Given the description of an element on the screen output the (x, y) to click on. 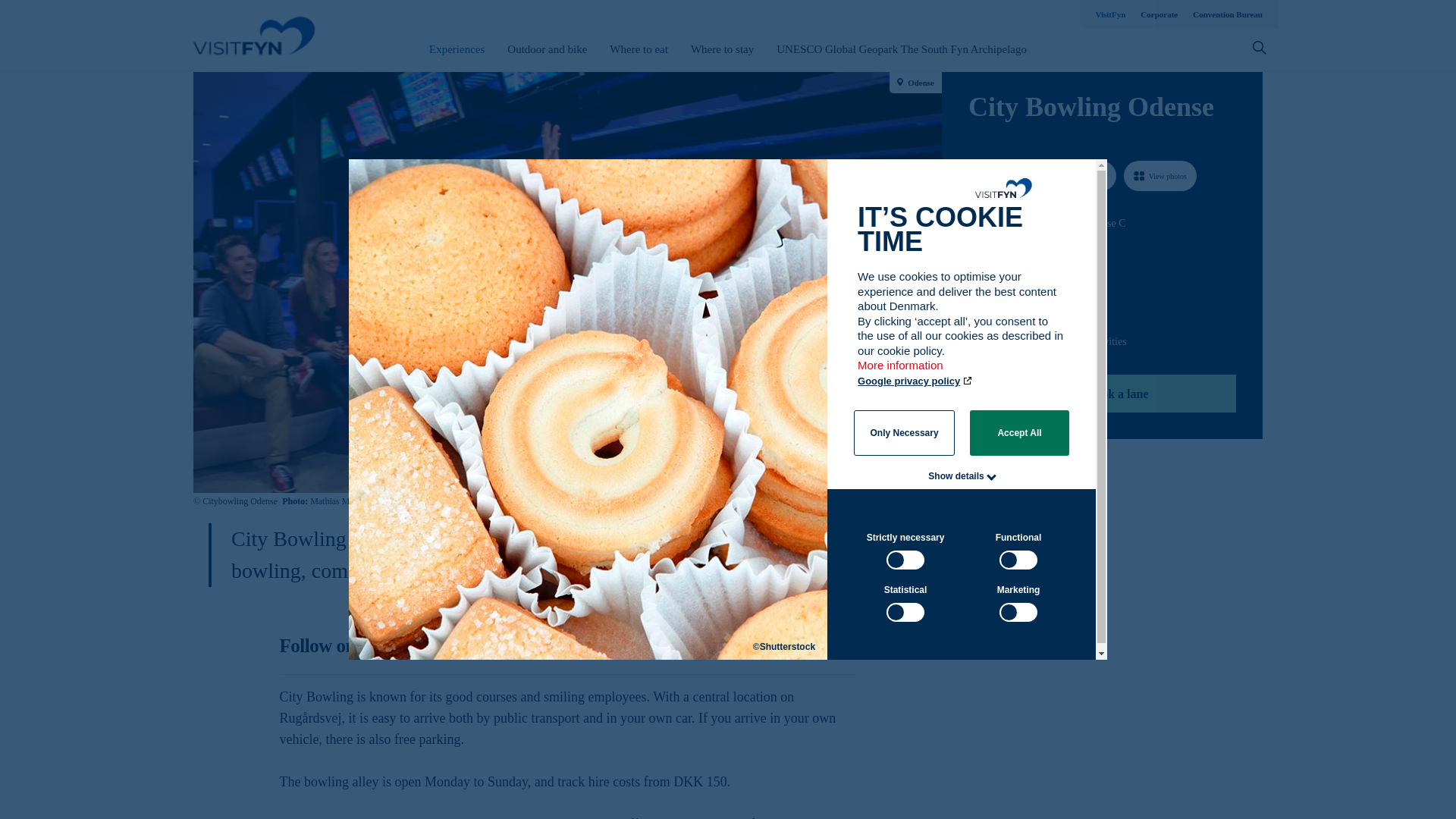
Show details (956, 475)
Path (973, 250)
More information (900, 372)
Google privacy policy (915, 380)
Only Necessary (904, 432)
Path (973, 310)
Accept All (1018, 432)
